Given the description of an element on the screen output the (x, y) to click on. 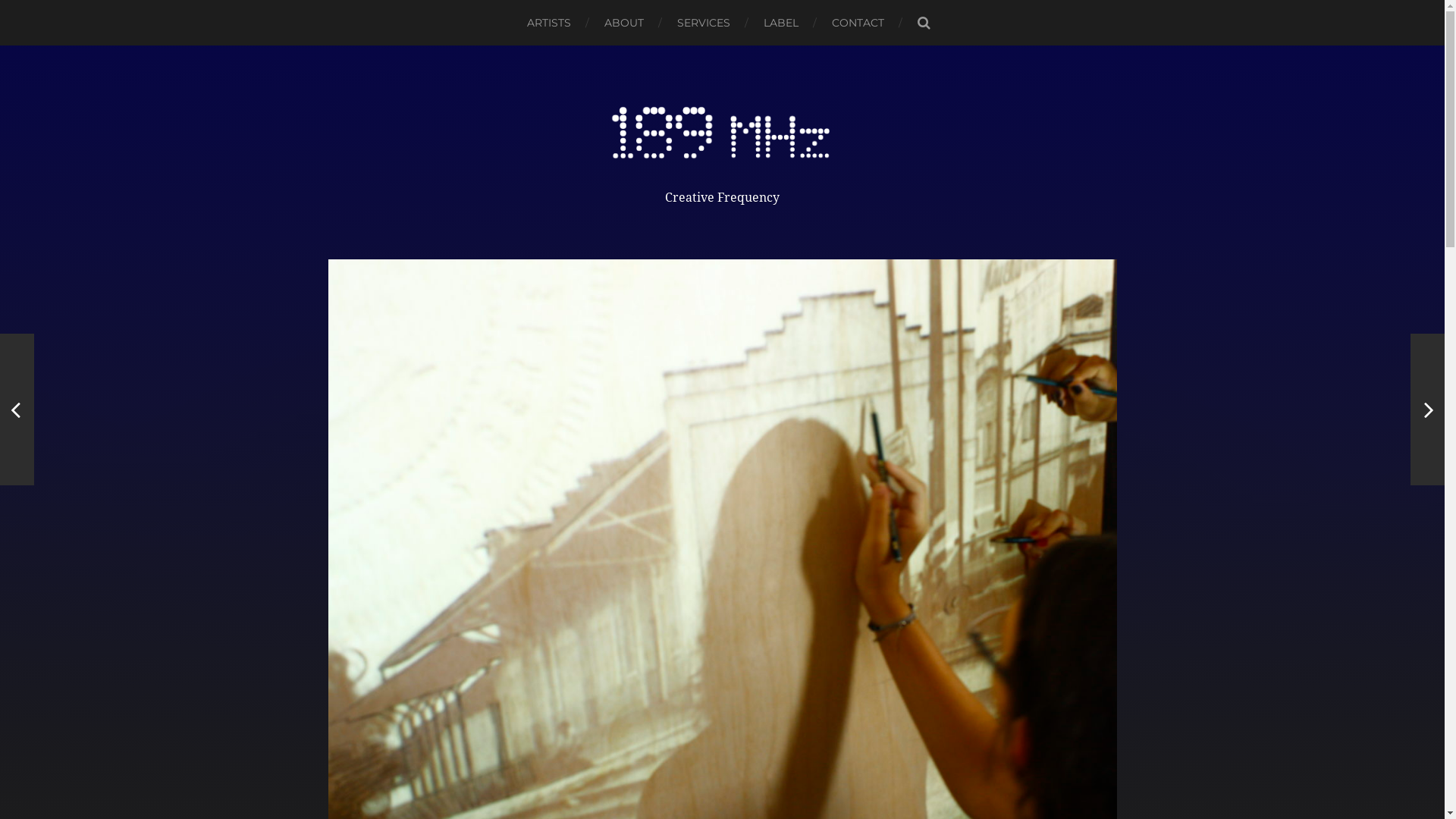
Previous Element type: text (17, 409)
189MHz  Element type: hover (722, 133)
ARTISTS Element type: text (549, 22)
ABOUT Element type: text (623, 22)
SERVICES Element type: text (703, 22)
CONTACT Element type: text (857, 22)
Next Element type: text (1427, 409)
LABEL Element type: text (780, 22)
